Given the description of an element on the screen output the (x, y) to click on. 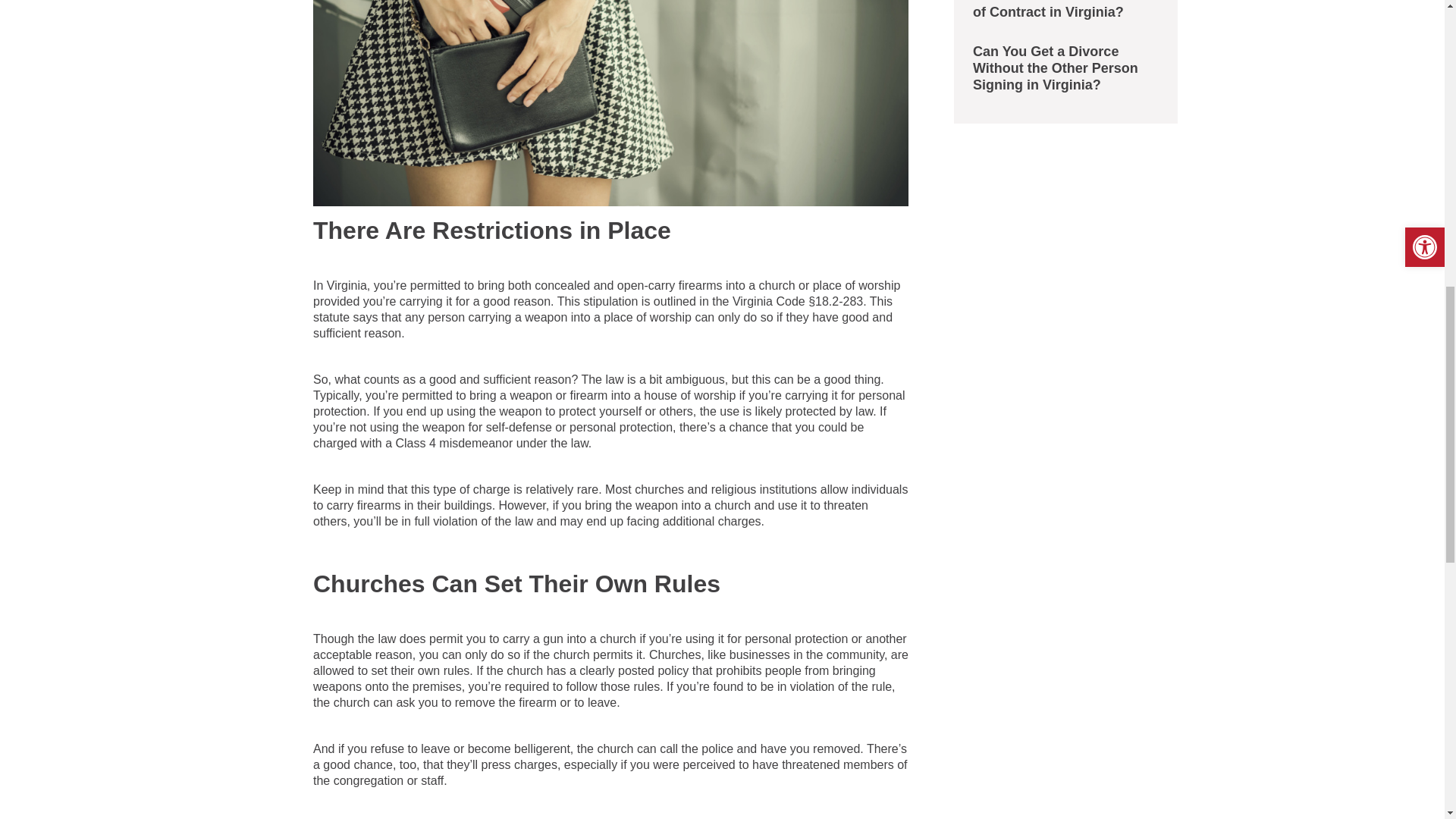
What Constitutes a Breach of Contract in Virginia? (1064, 10)
